Given the description of an element on the screen output the (x, y) to click on. 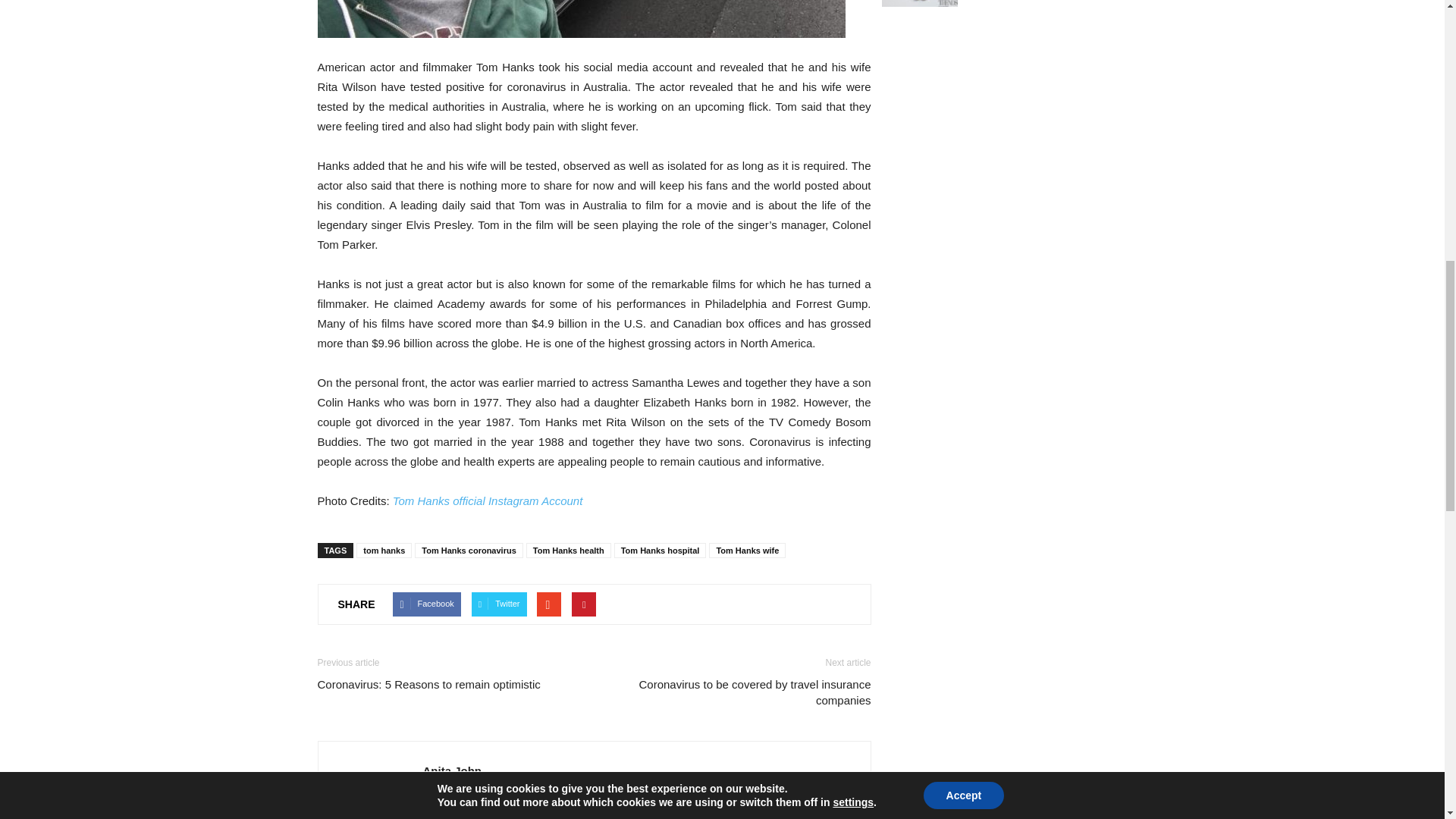
tom hanks (580, 18)
